Given the description of an element on the screen output the (x, y) to click on. 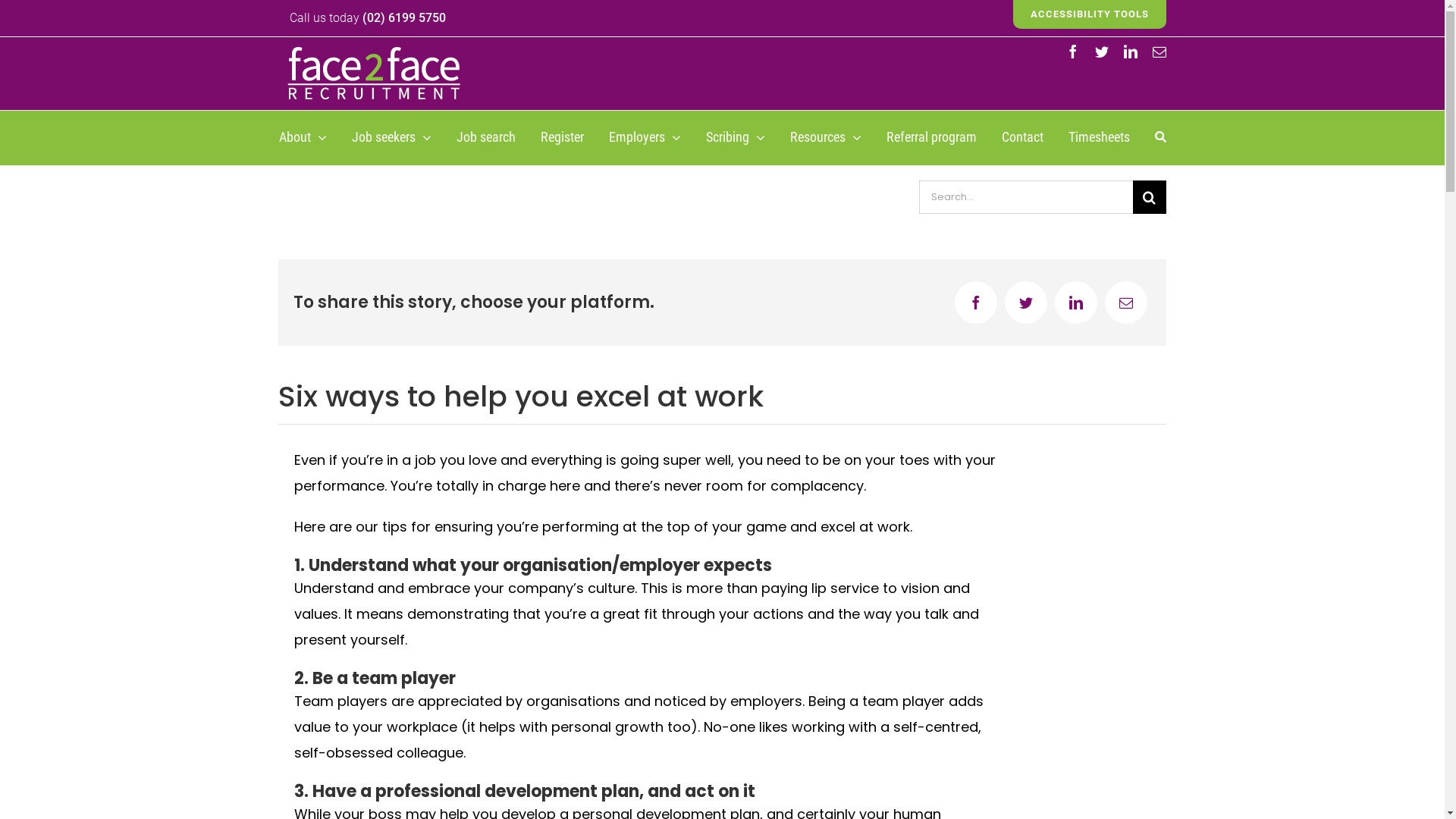
Employers Element type: text (644, 137)
Timesheets Element type: text (1098, 137)
Resources Element type: text (825, 137)
Job search Element type: text (485, 137)
Job seekers Element type: text (391, 137)
Search Element type: hover (1159, 137)
Contact Element type: text (1021, 137)
Scribing Element type: text (734, 137)
Register Element type: text (561, 137)
Referral program Element type: text (930, 137)
ACCESSIBILITY TOOLS Element type: text (1089, 14)
About Element type: text (302, 137)
